Given the description of an element on the screen output the (x, y) to click on. 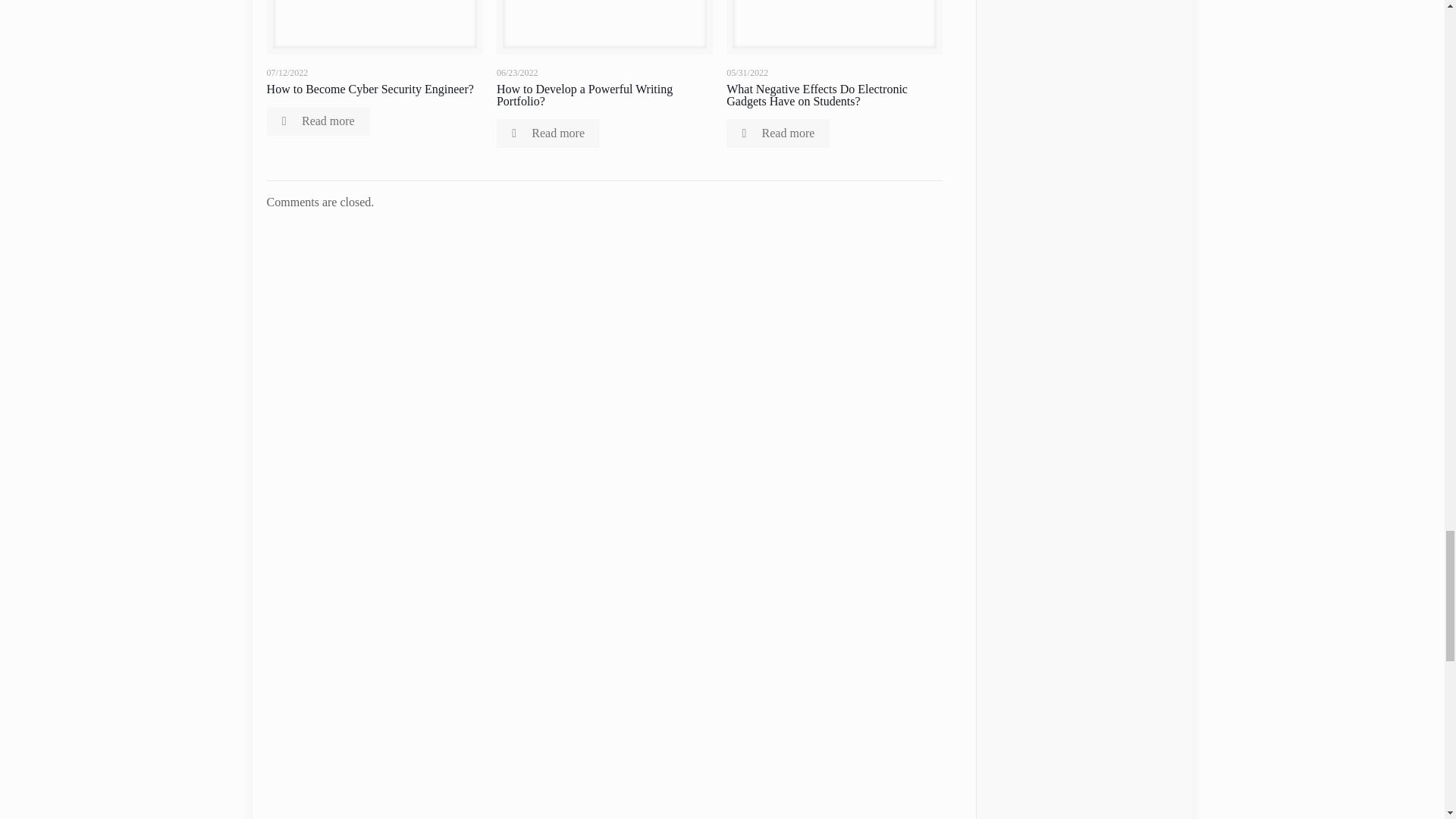
Read more (777, 133)
Read more (547, 133)
How to Develop a Powerful Writing Portfolio? (584, 94)
Read more (317, 121)
How to Become Cyber Security Engineer? (370, 88)
